Given the description of an element on the screen output the (x, y) to click on. 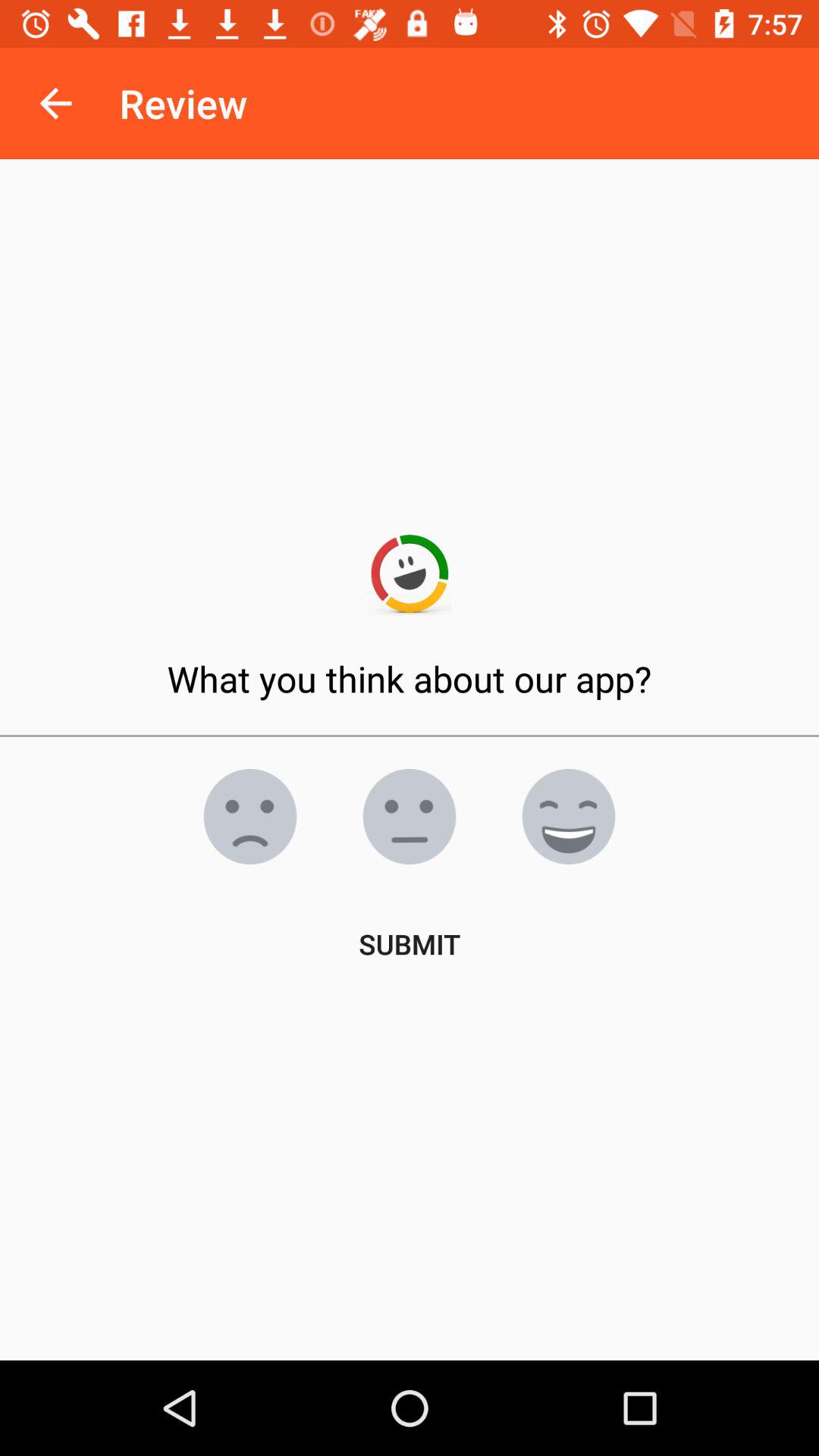
leave negative review (249, 816)
